Given the description of an element on the screen output the (x, y) to click on. 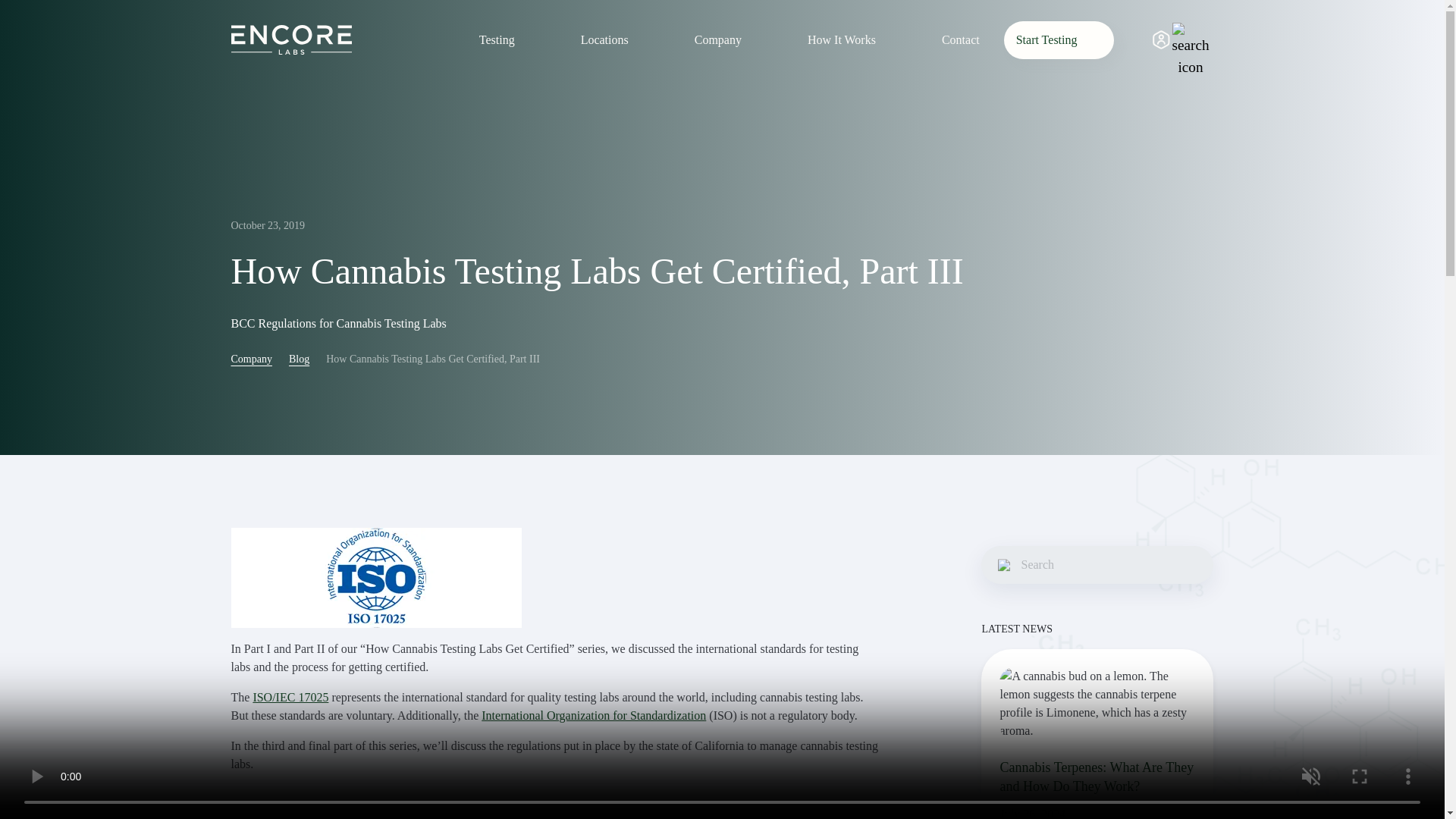
Testing (511, 39)
